Given the description of an element on the screen output the (x, y) to click on. 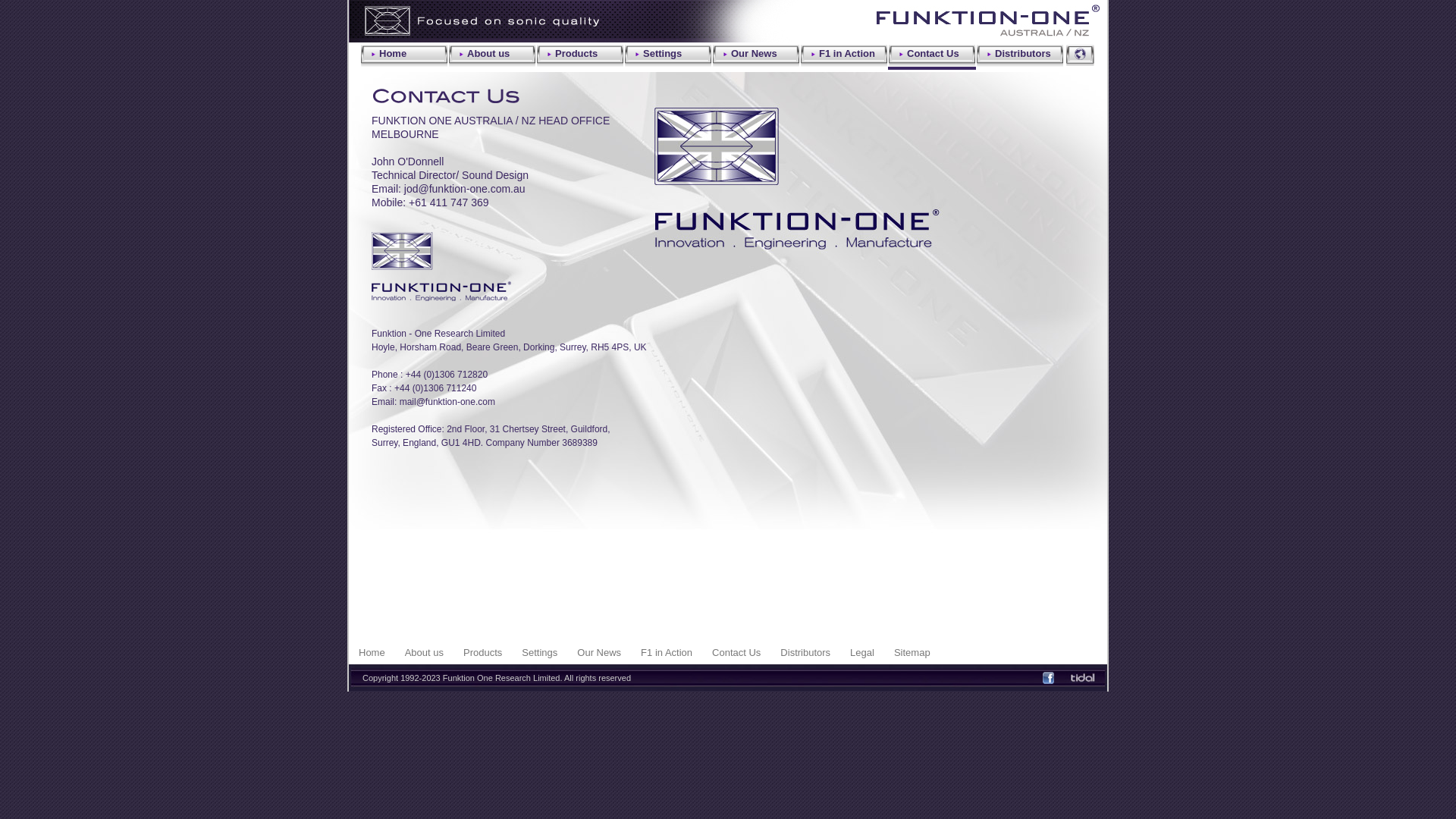
Home Element type: text (404, 54)
jod@funktion-one.com.au Element type: text (464, 188)
Distributors Element type: text (1019, 54)
Settings Element type: text (539, 652)
Contact Us Element type: text (736, 652)
Our News Element type: text (756, 54)
Settings Element type: text (668, 54)
  Element type: text (1083, 676)
Sitemap Element type: text (912, 652)
Products Element type: text (580, 54)
F1 in Action Element type: text (844, 54)
Our News Element type: text (599, 652)
Distributors Element type: text (805, 652)
Contact Us Element type: text (931, 56)
Legal Element type: text (862, 652)
About us Element type: text (492, 54)
F1 in Action Element type: text (666, 652)
Home Element type: text (371, 652)
About us Element type: text (423, 652)
Products Element type: text (482, 652)
mail@funktion-one.com Element type: text (447, 401)
